Given the description of an element on the screen output the (x, y) to click on. 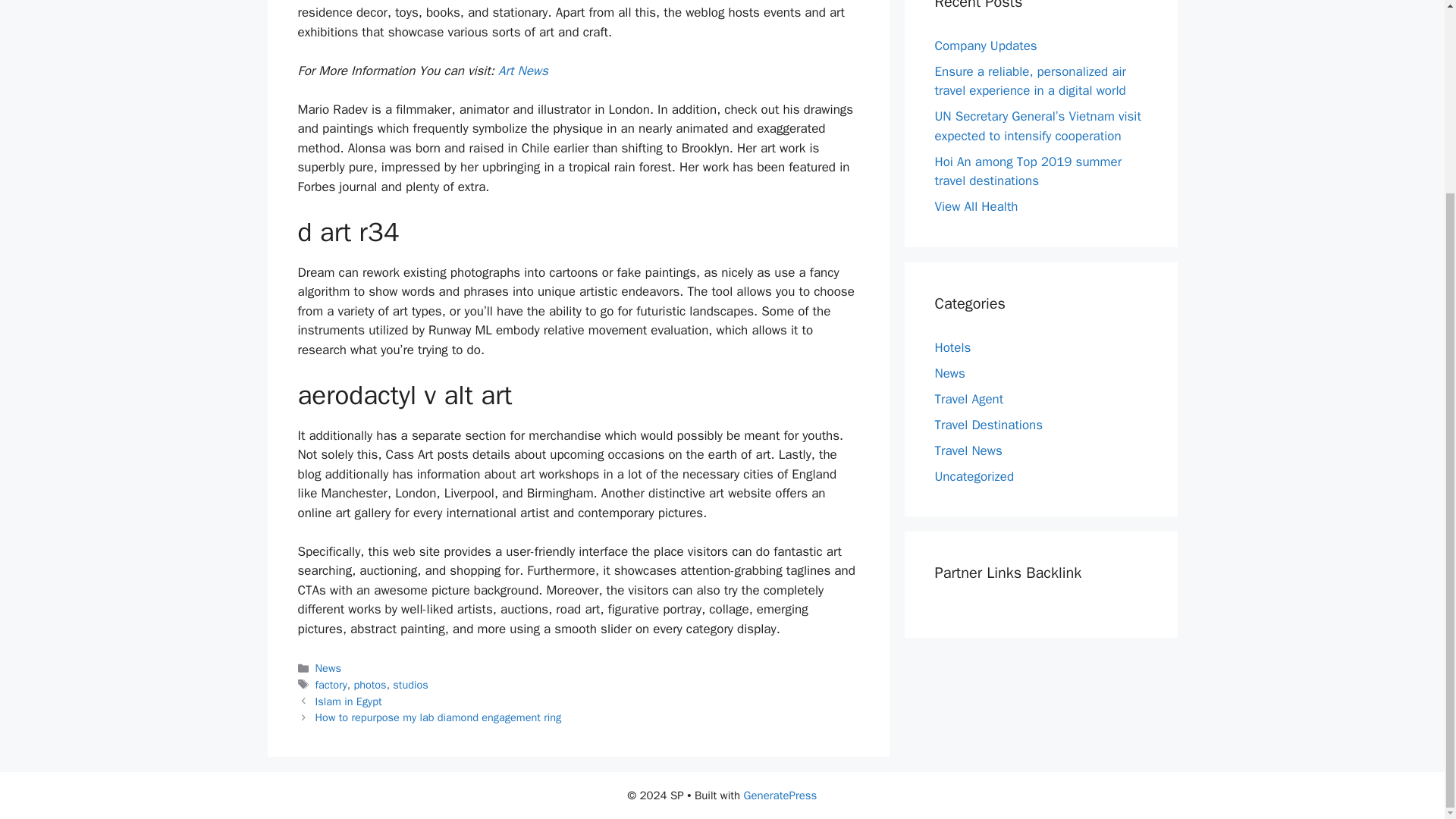
Art News (798, 0)
factory (331, 684)
Uncategorized (973, 476)
View All Health (975, 206)
Travel Agent (968, 399)
Islam in Egypt (348, 701)
photos (369, 684)
News (327, 667)
Travel Destinations (988, 424)
Company Updates (985, 45)
studios (410, 684)
News (948, 373)
Travel News (967, 450)
Hoi An among Top 2019 summer travel destinations (1027, 171)
